Given the description of an element on the screen output the (x, y) to click on. 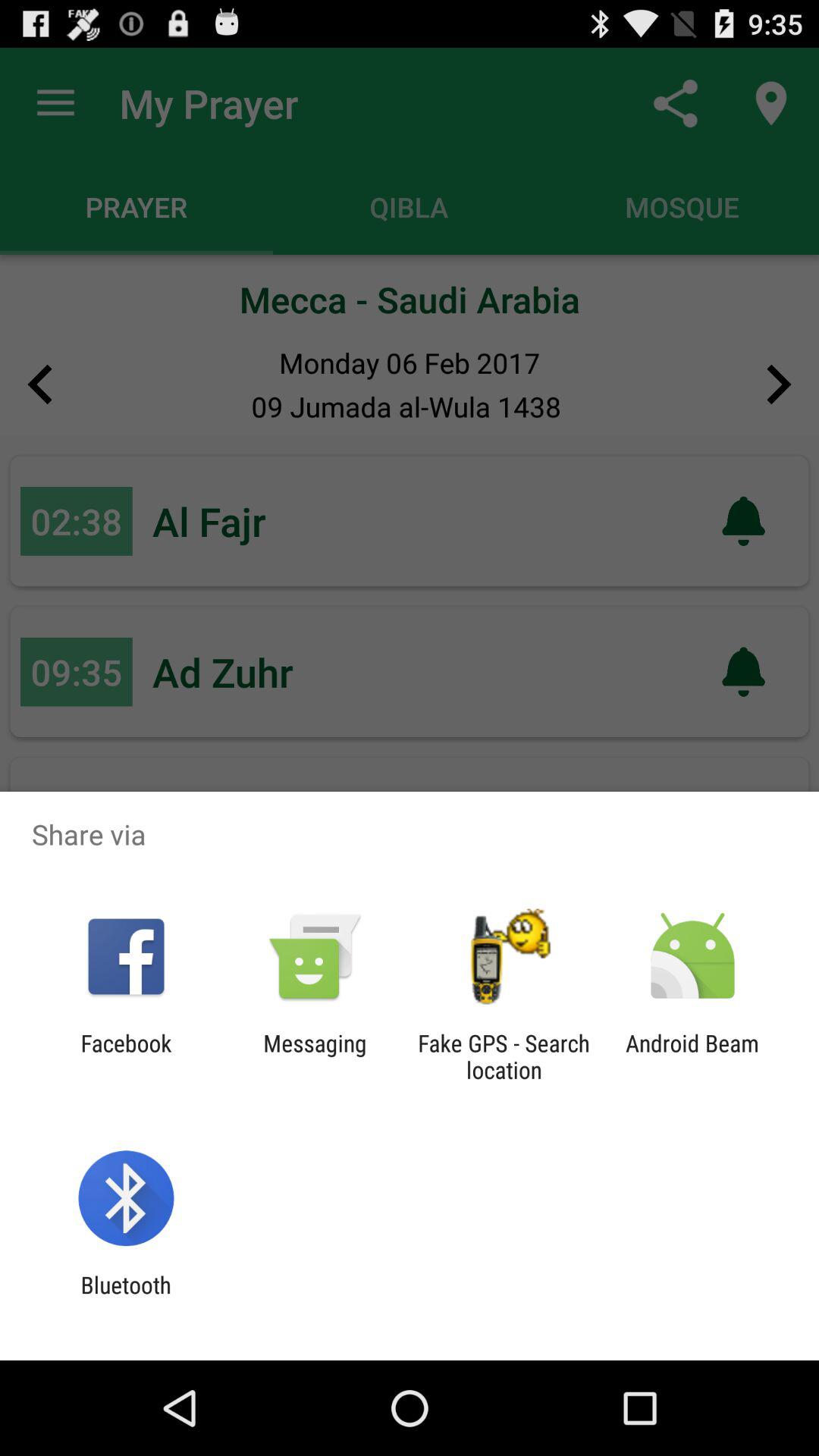
jump until the fake gps search icon (503, 1056)
